Given the description of an element on the screen output the (x, y) to click on. 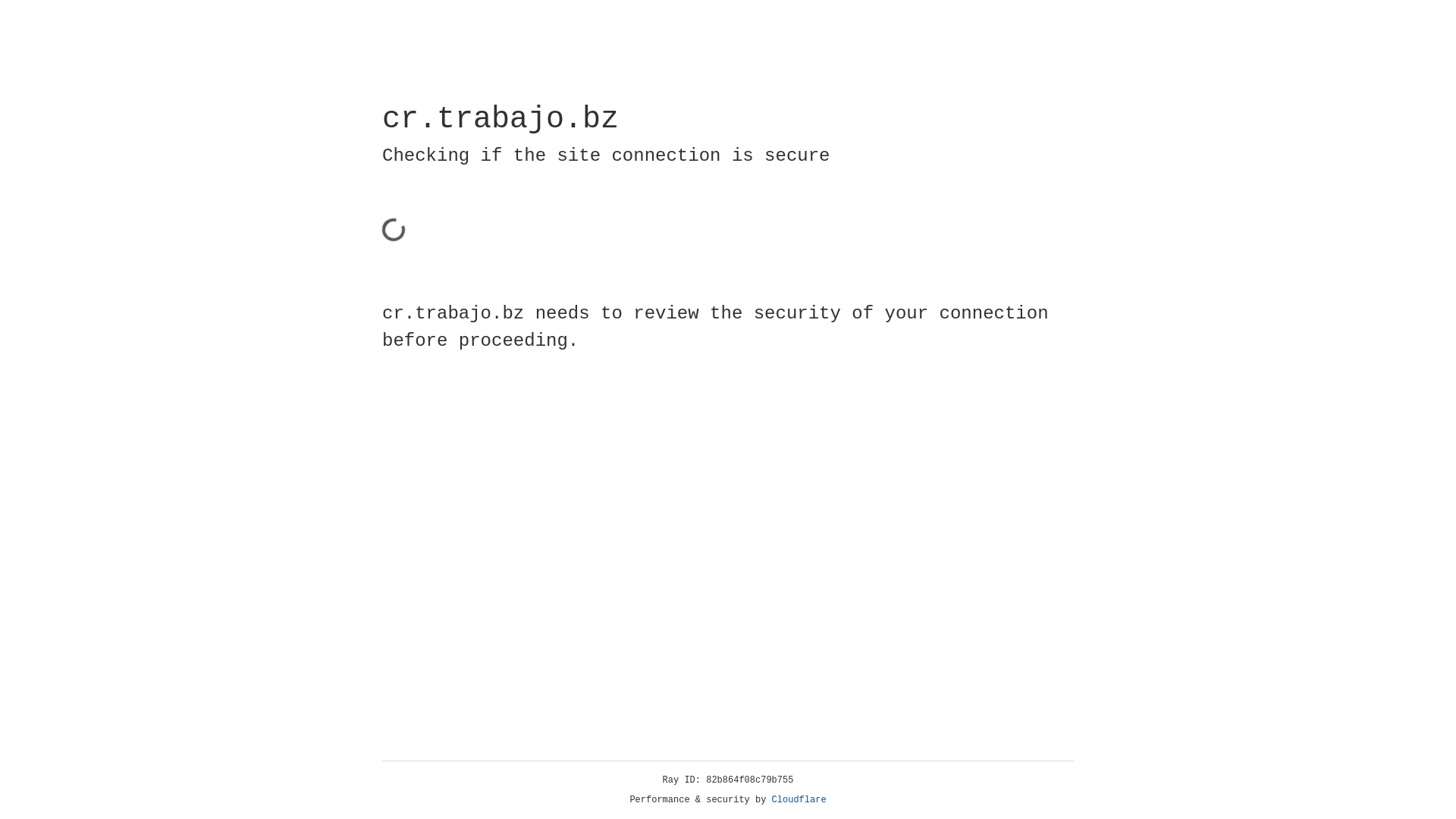
Cloudflare Element type: text (798, 799)
